Given the description of an element on the screen output the (x, y) to click on. 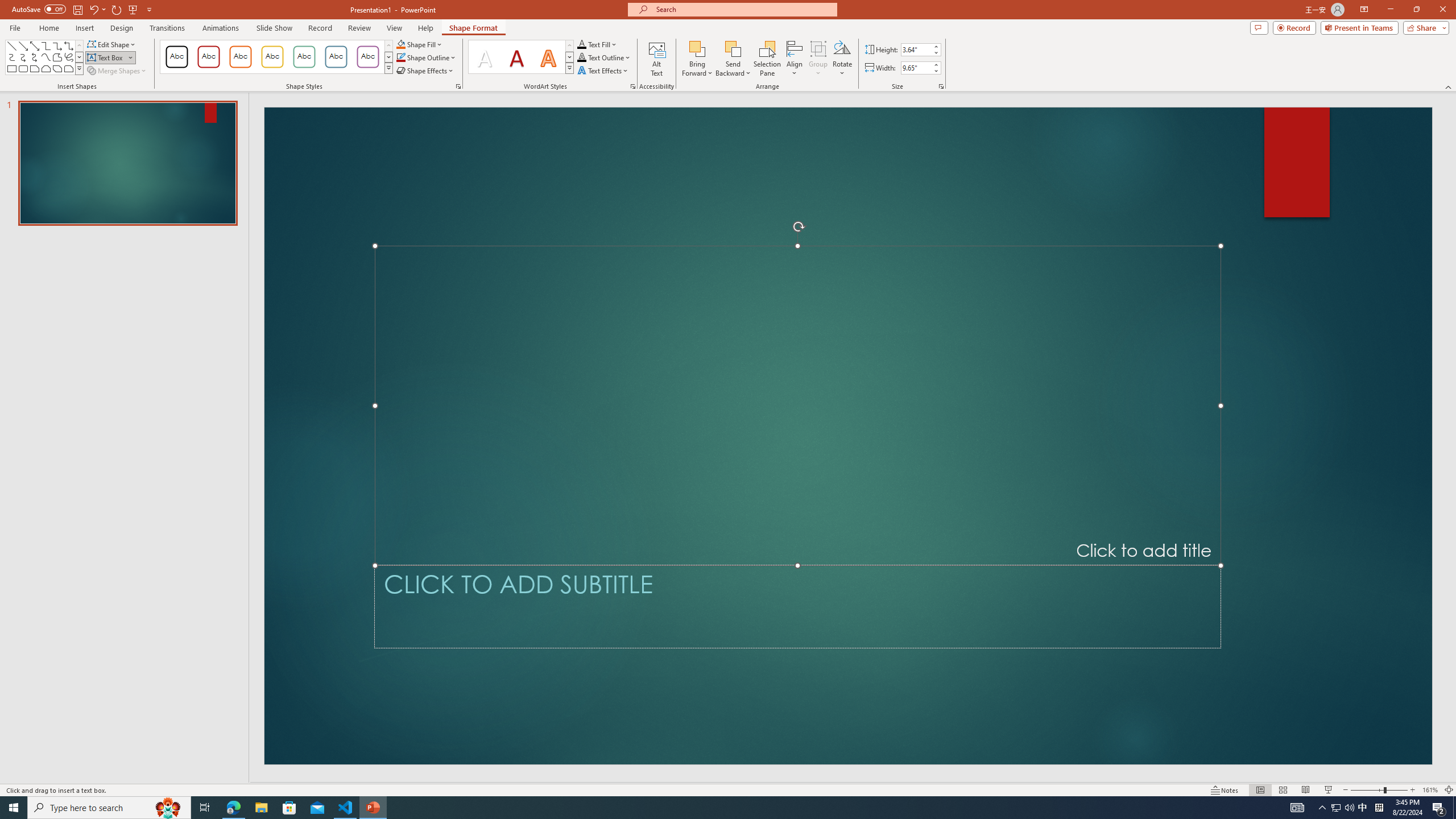
AutomationID: ShapeStylesGallery (276, 56)
Zoom 161% (1430, 790)
Text Outline RGB(0, 0, 0) (581, 56)
Text Fill (596, 44)
Rectangle: Top Corners One Rounded and One Snipped (68, 68)
Send Backward (733, 58)
